Given the description of an element on the screen output the (x, y) to click on. 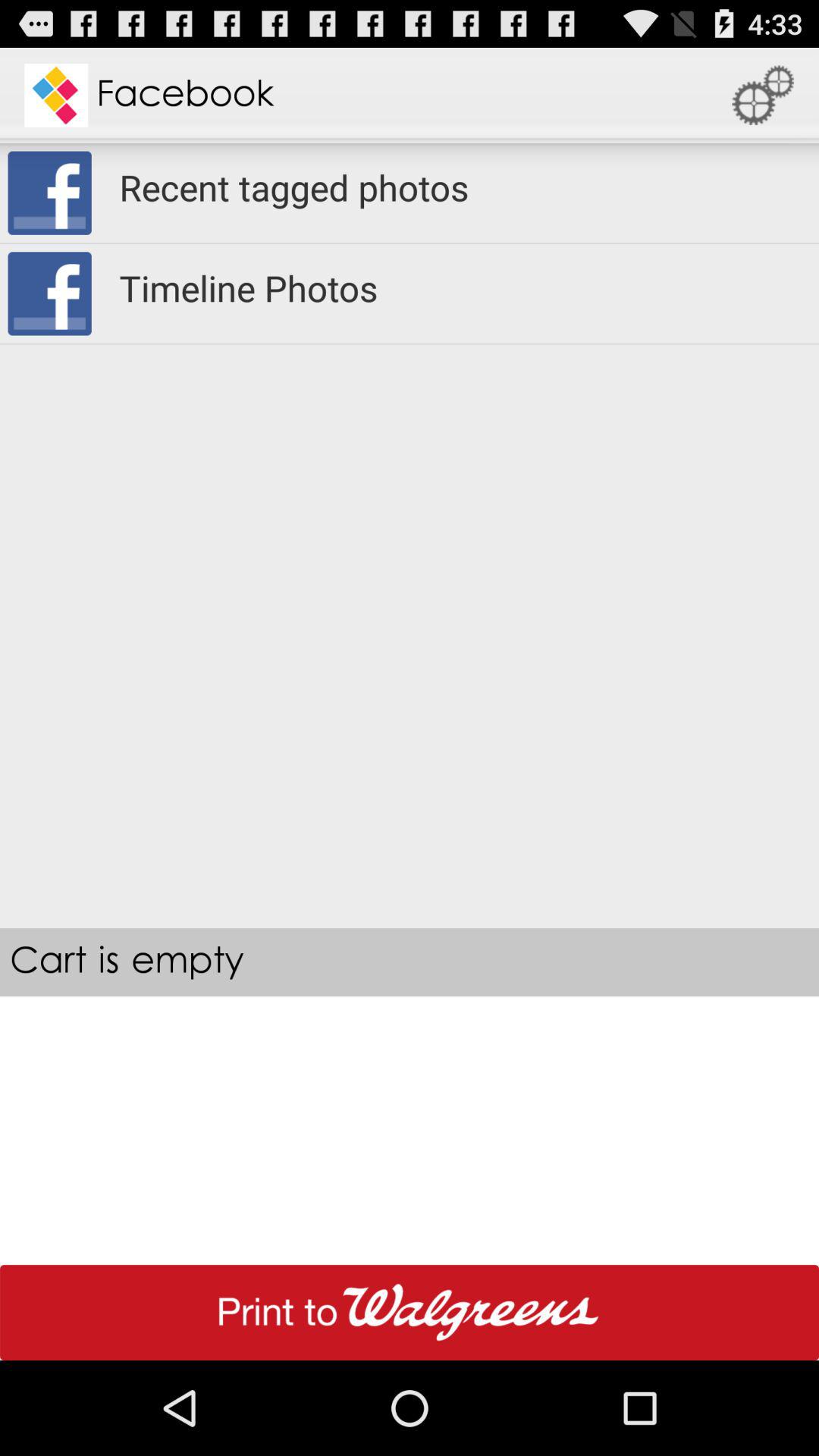
swipe until the timeline photos item (459, 287)
